Given the description of an element on the screen output the (x, y) to click on. 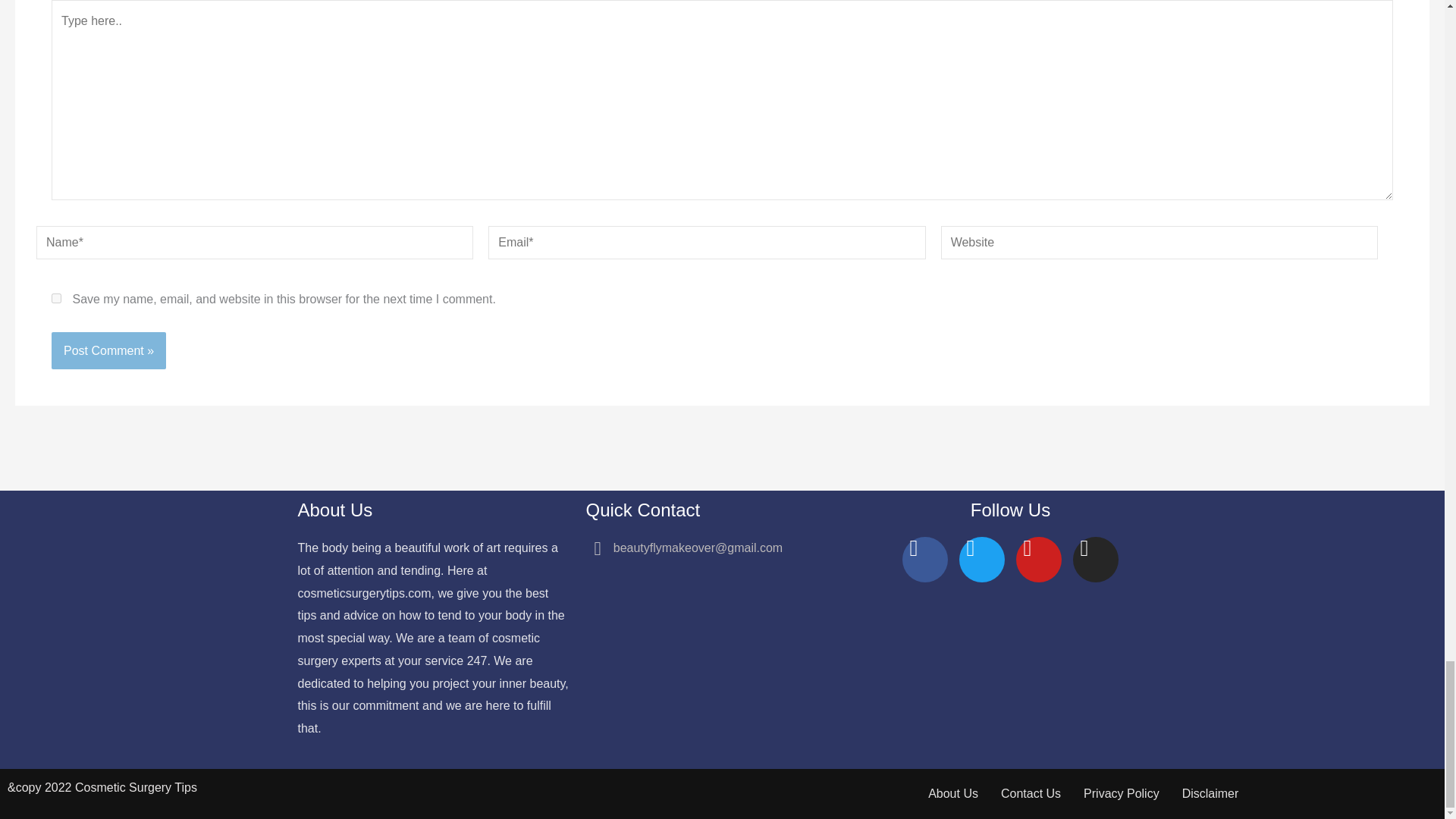
Privacy Policy (1120, 793)
Youtube (1038, 559)
Contact Us (1030, 793)
yes (55, 298)
Facebook (924, 559)
Twitter (981, 559)
About Us (953, 793)
Instagram (1095, 559)
Disclaimer (1210, 793)
